Given the description of an element on the screen output the (x, y) to click on. 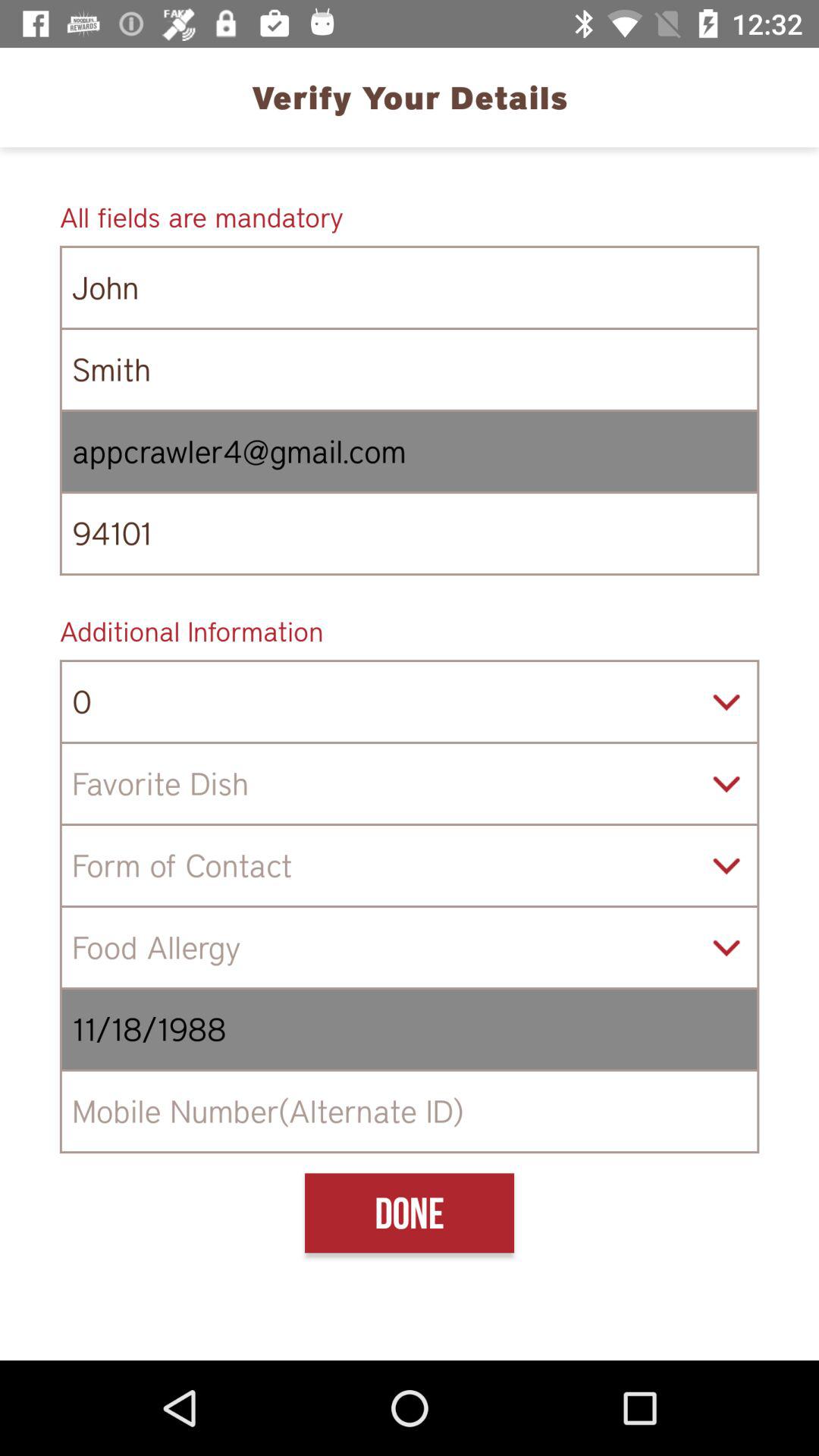
launch the done (409, 1212)
